Given the description of an element on the screen output the (x, y) to click on. 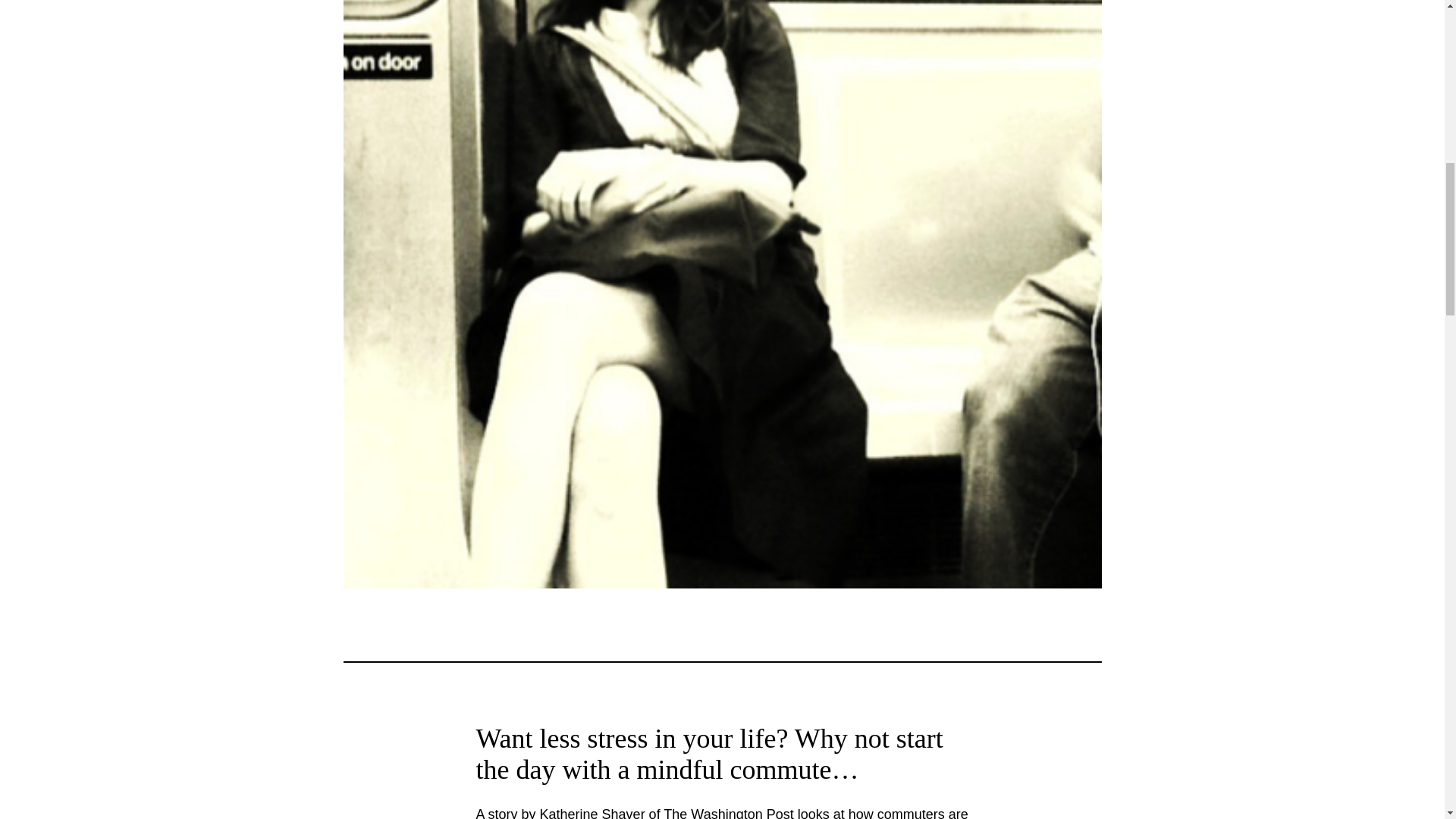
The Washington Post (728, 812)
The Washington Post (728, 812)
